Given the description of an element on the screen output the (x, y) to click on. 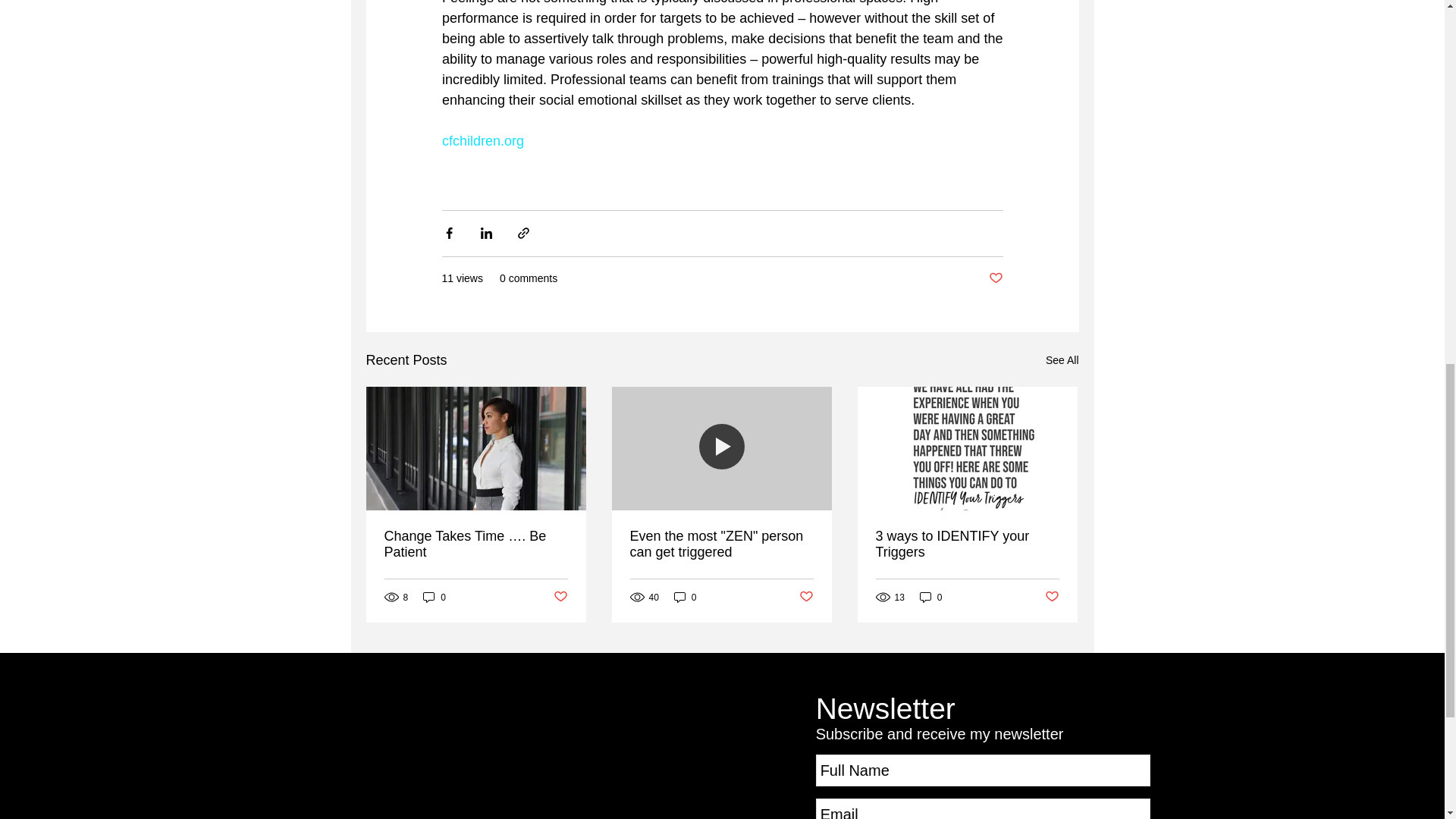
Post not marked as liked (1052, 596)
Post not marked as liked (806, 596)
Post not marked as liked (995, 278)
0 (685, 596)
Post not marked as liked (560, 596)
cfchildren.org (481, 140)
0 (930, 596)
0 (434, 596)
Even the most "ZEN" person can get triggered (720, 544)
3 ways to IDENTIFY your Triggers (966, 544)
